Given the description of an element on the screen output the (x, y) to click on. 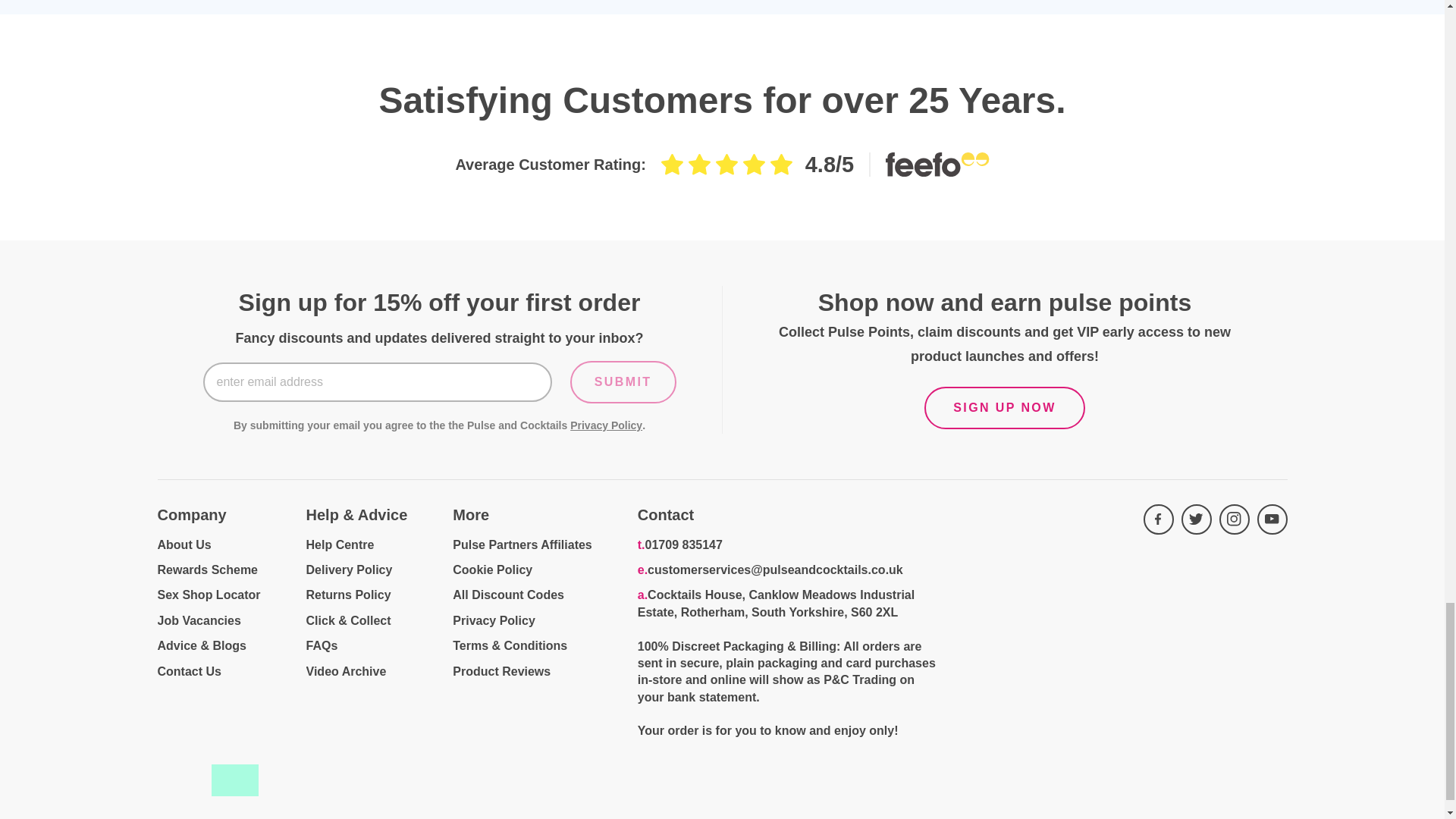
facebook (1157, 519)
youtube (1272, 519)
instagram (1234, 519)
twitter (1195, 519)
